Given the description of an element on the screen output the (x, y) to click on. 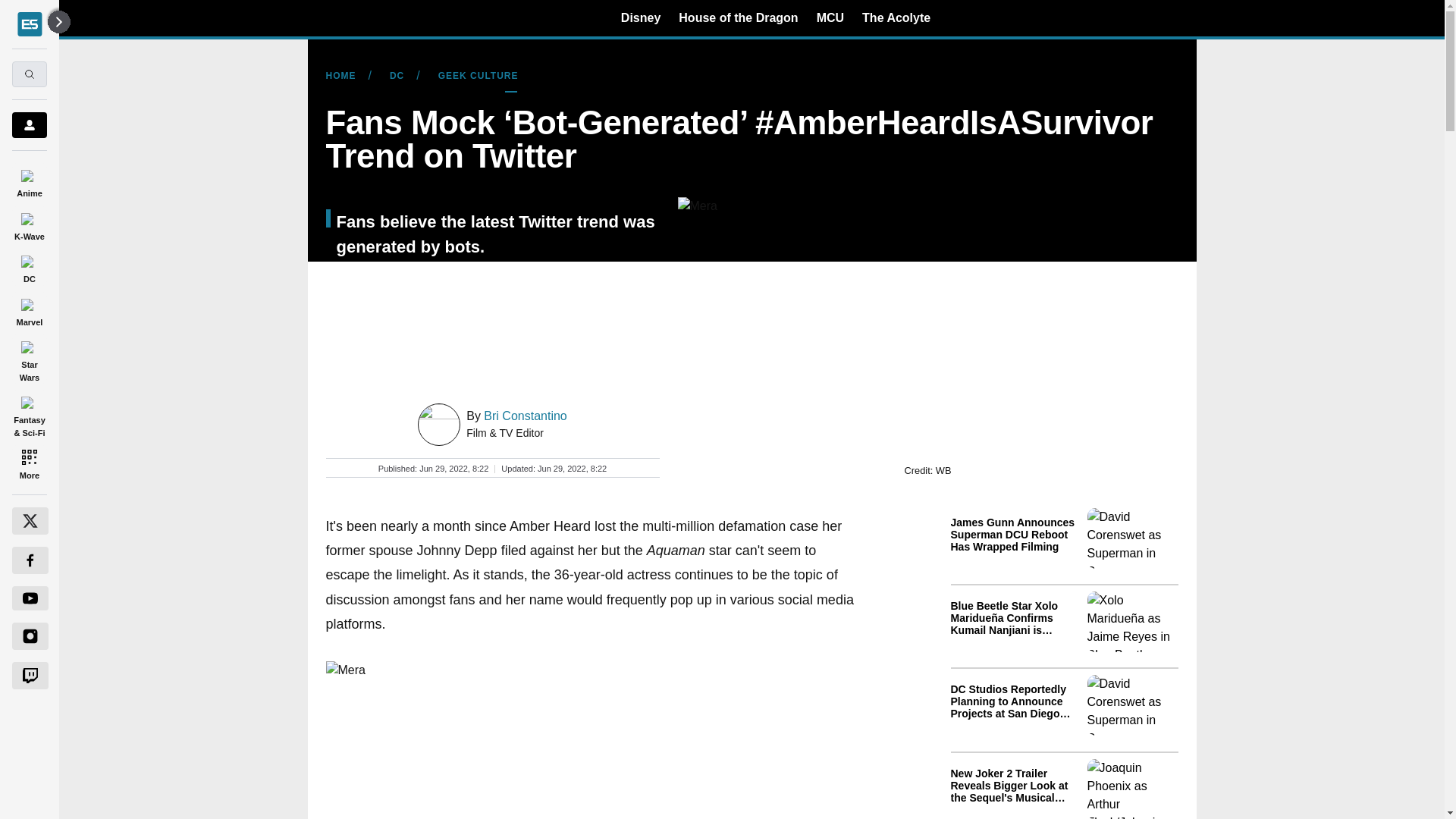
K-Wave (28, 224)
MCU (830, 18)
House of the Dragon (737, 18)
Anime (28, 180)
Marvel (28, 309)
More (28, 463)
Disney (641, 18)
DC (28, 266)
The Acolyte (895, 18)
